Given the description of an element on the screen output the (x, y) to click on. 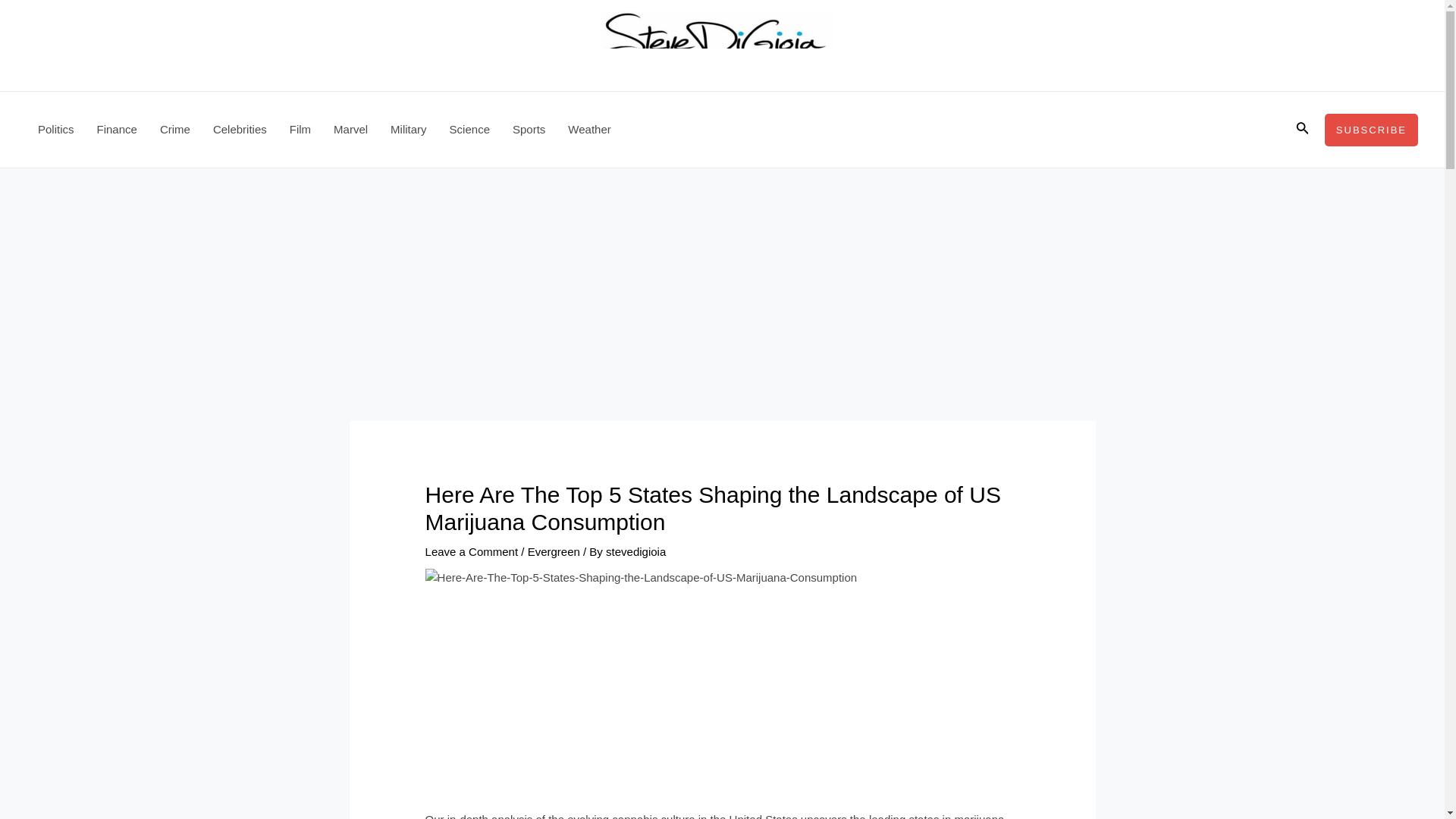
SUBSCRIBE (1371, 129)
View all posts by stevedigioia (635, 551)
Evergreen (553, 551)
Leave a Comment (471, 551)
Celebrities (240, 129)
stevedigioia (635, 551)
